Given the description of an element on the screen output the (x, y) to click on. 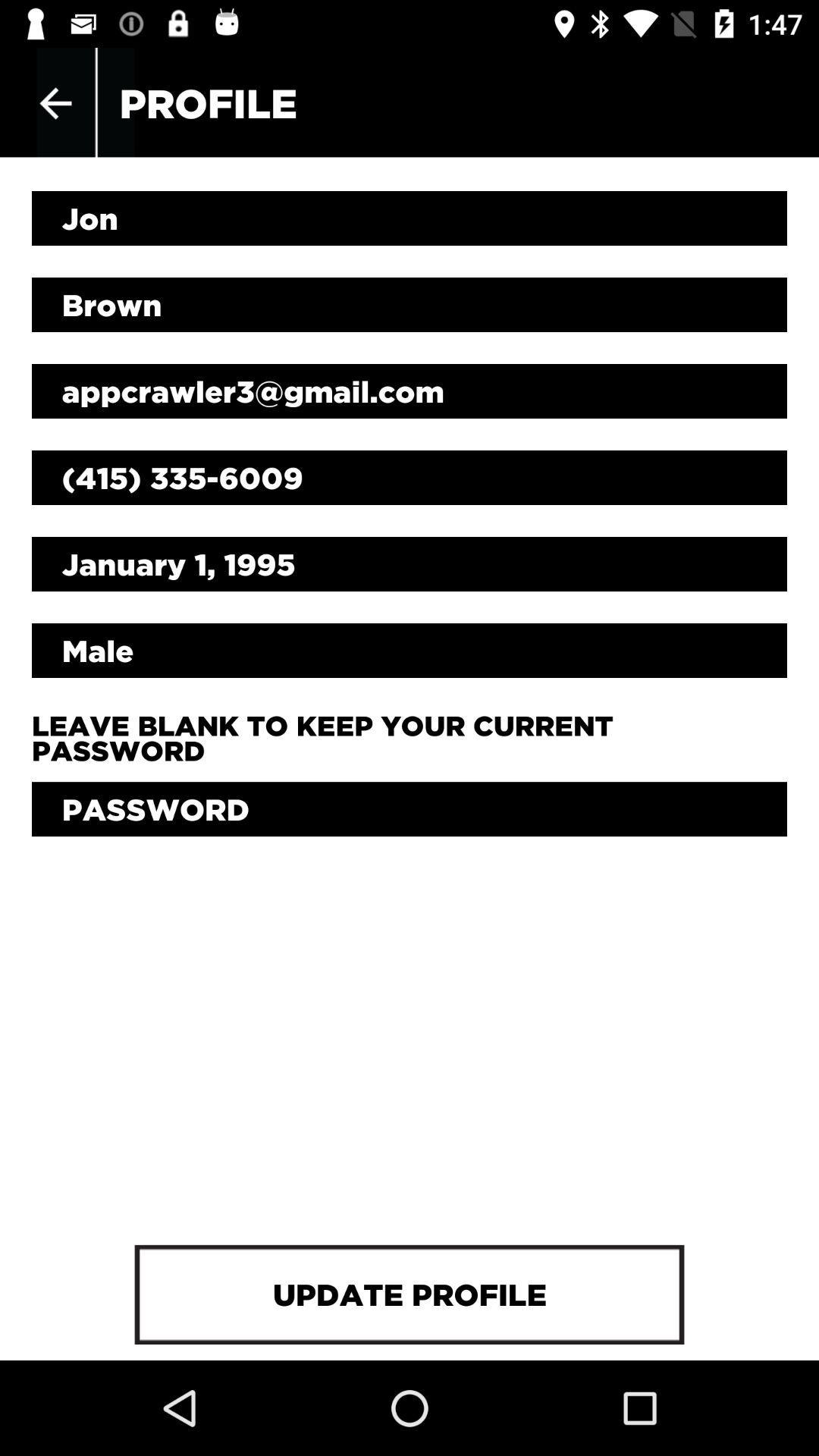
click the item above january 1, 1995 item (409, 477)
